Given the description of an element on the screen output the (x, y) to click on. 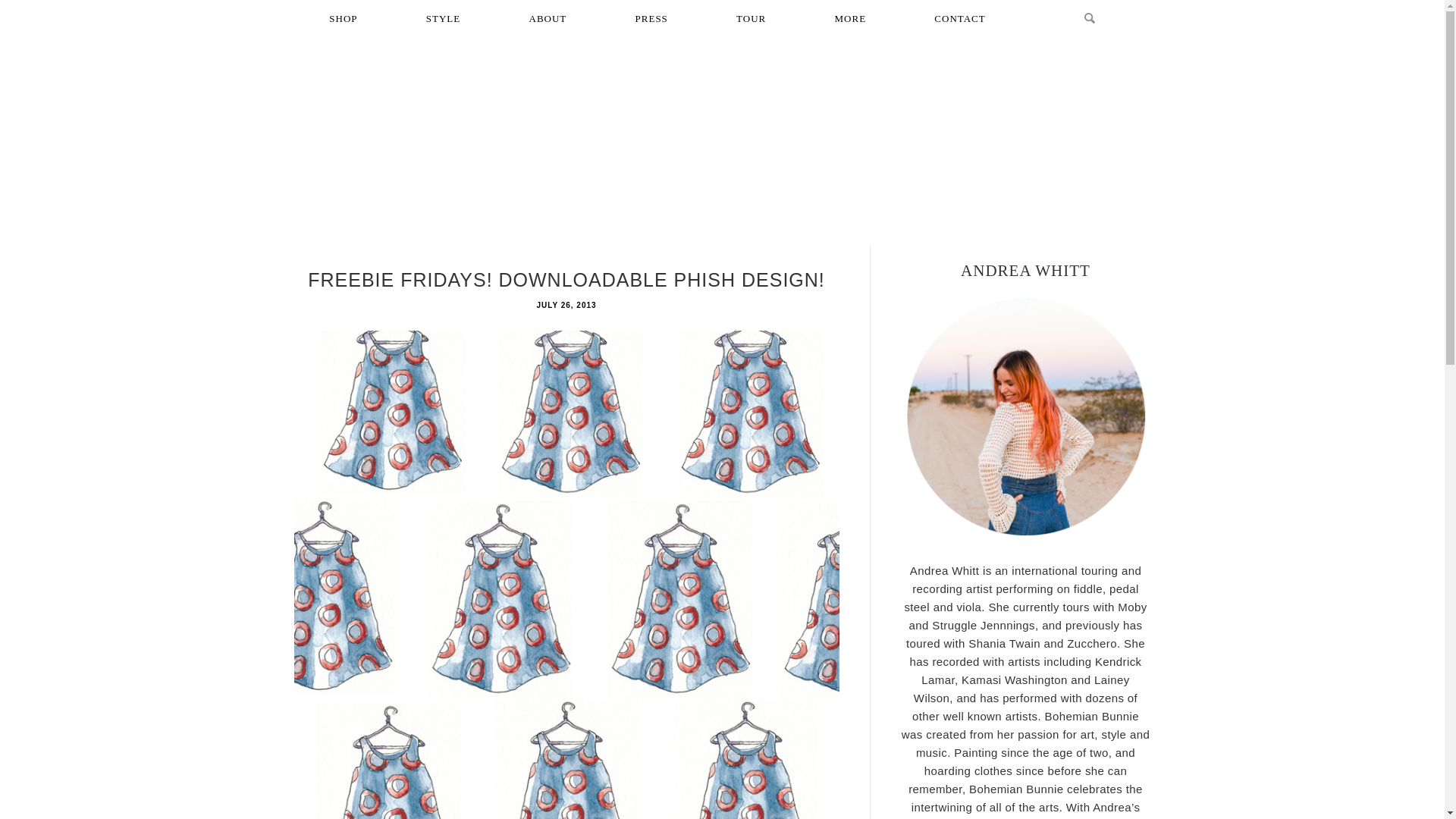
TOUR (750, 18)
MORE (850, 18)
ABOUT (547, 18)
PRESS (651, 18)
SHOP (343, 18)
STYLE (443, 18)
